Given the description of an element on the screen output the (x, y) to click on. 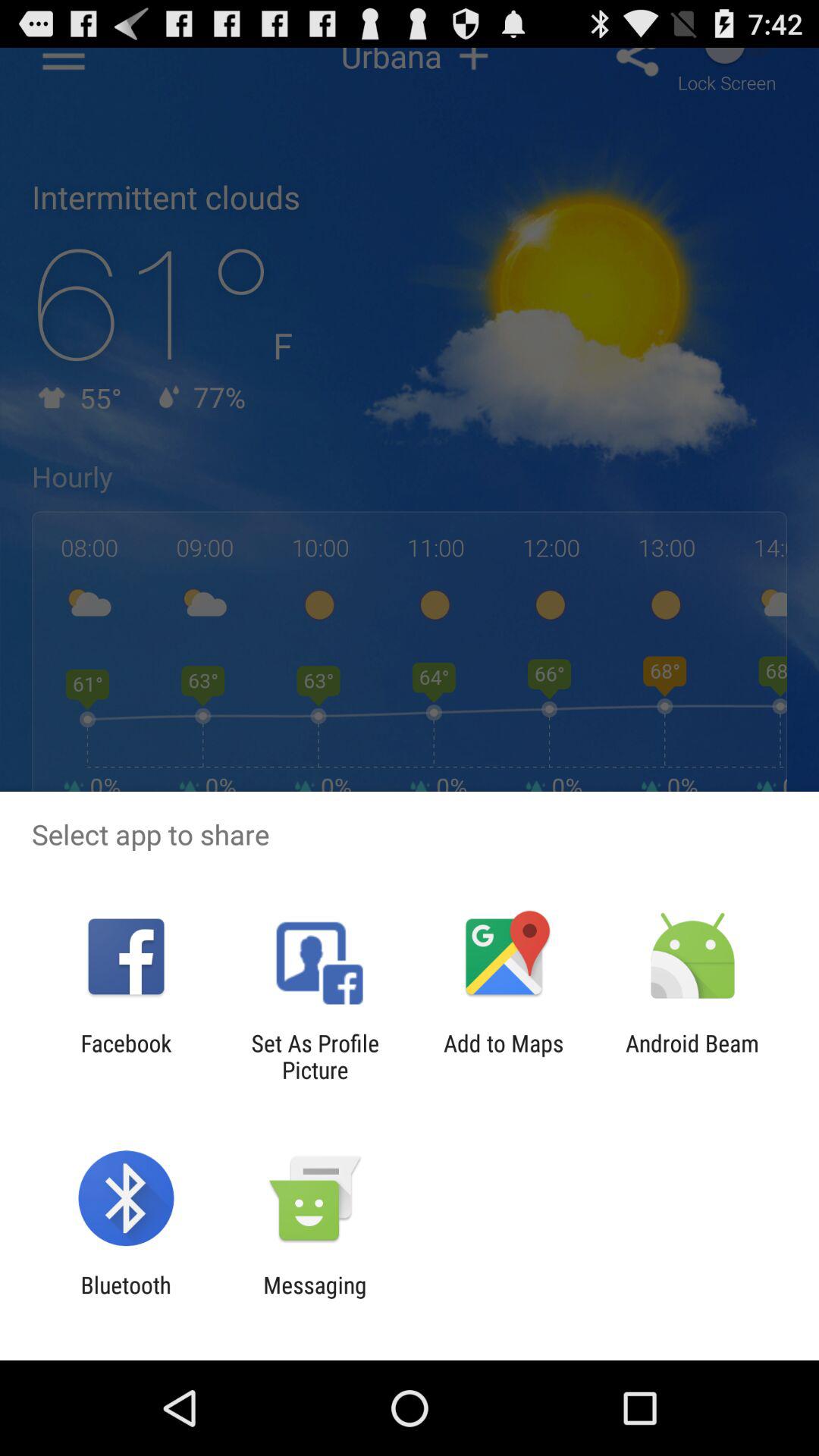
swipe to bluetooth icon (125, 1298)
